Given the description of an element on the screen output the (x, y) to click on. 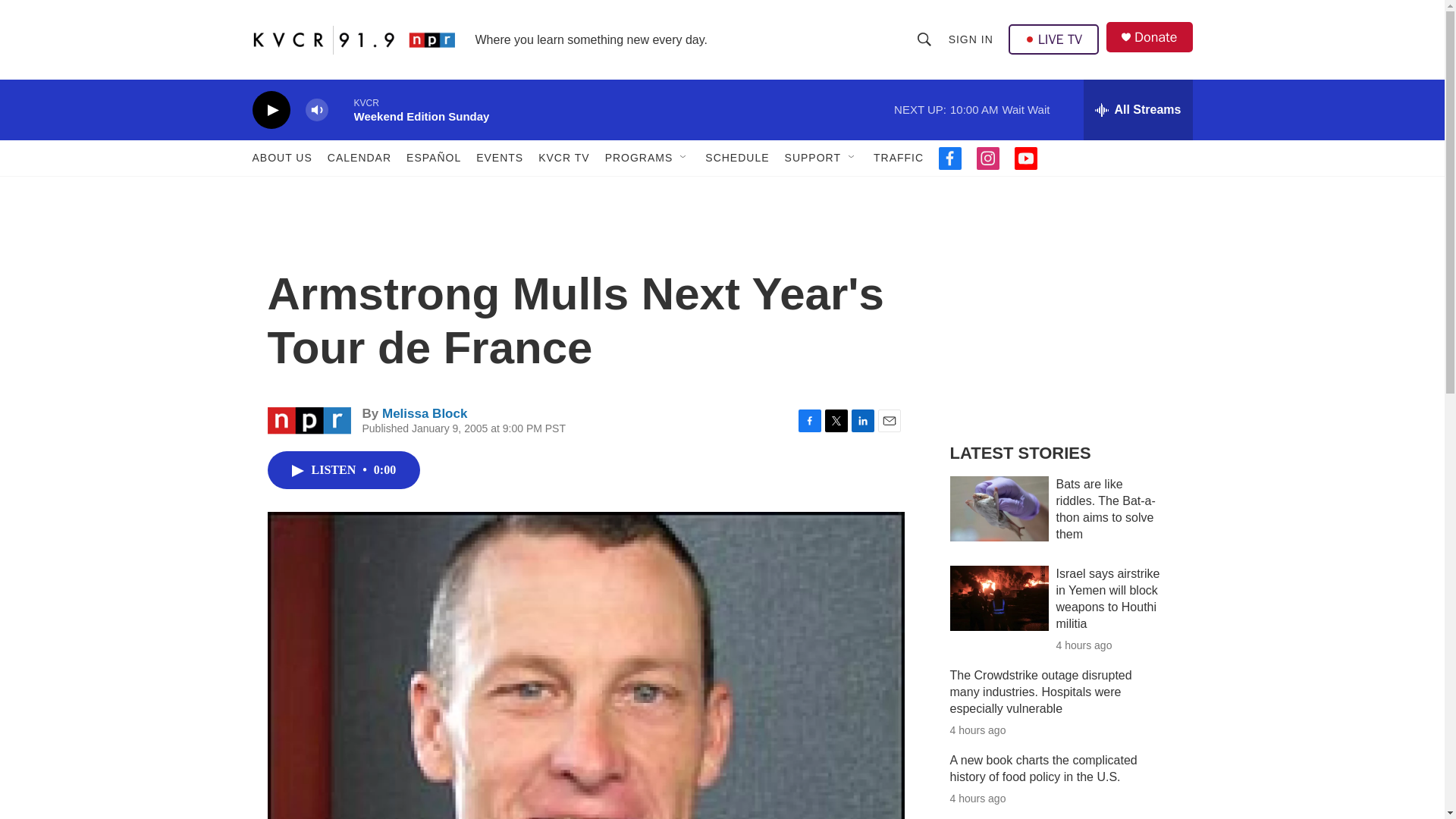
3rd party ad content (1062, 316)
